Given the description of an element on the screen output the (x, y) to click on. 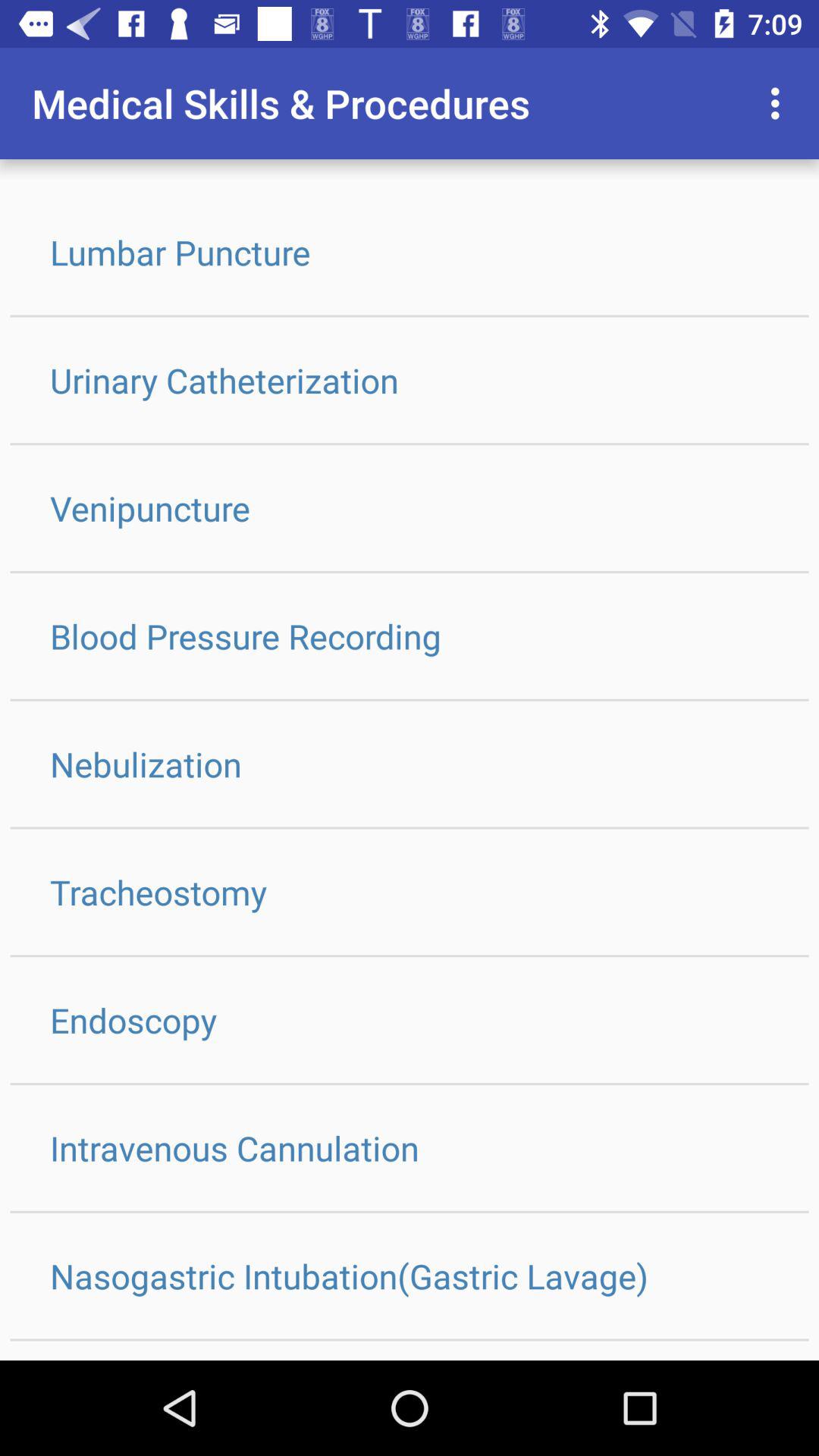
turn on icon below nasogastric intubation gastric item (409, 1350)
